Given the description of an element on the screen output the (x, y) to click on. 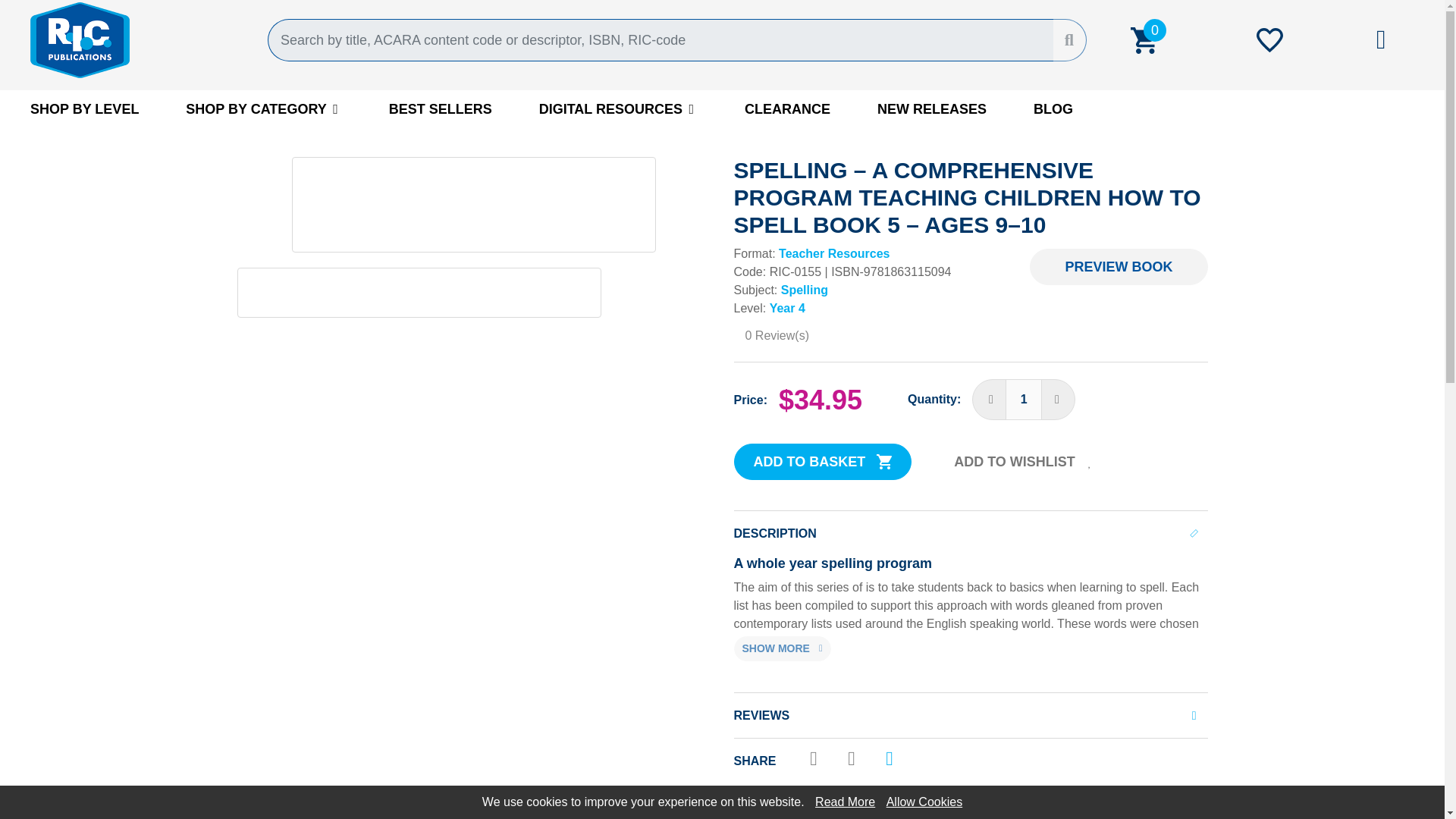
Read More (845, 801)
R.I.C. Publications (137, 39)
SHOP BY CATEGORY (263, 107)
Allow Cookies (924, 801)
R.I.C. Publications (137, 39)
0 (1142, 39)
SHOP BY LEVEL (84, 107)
1 (1023, 399)
